Given the description of an element on the screen output the (x, y) to click on. 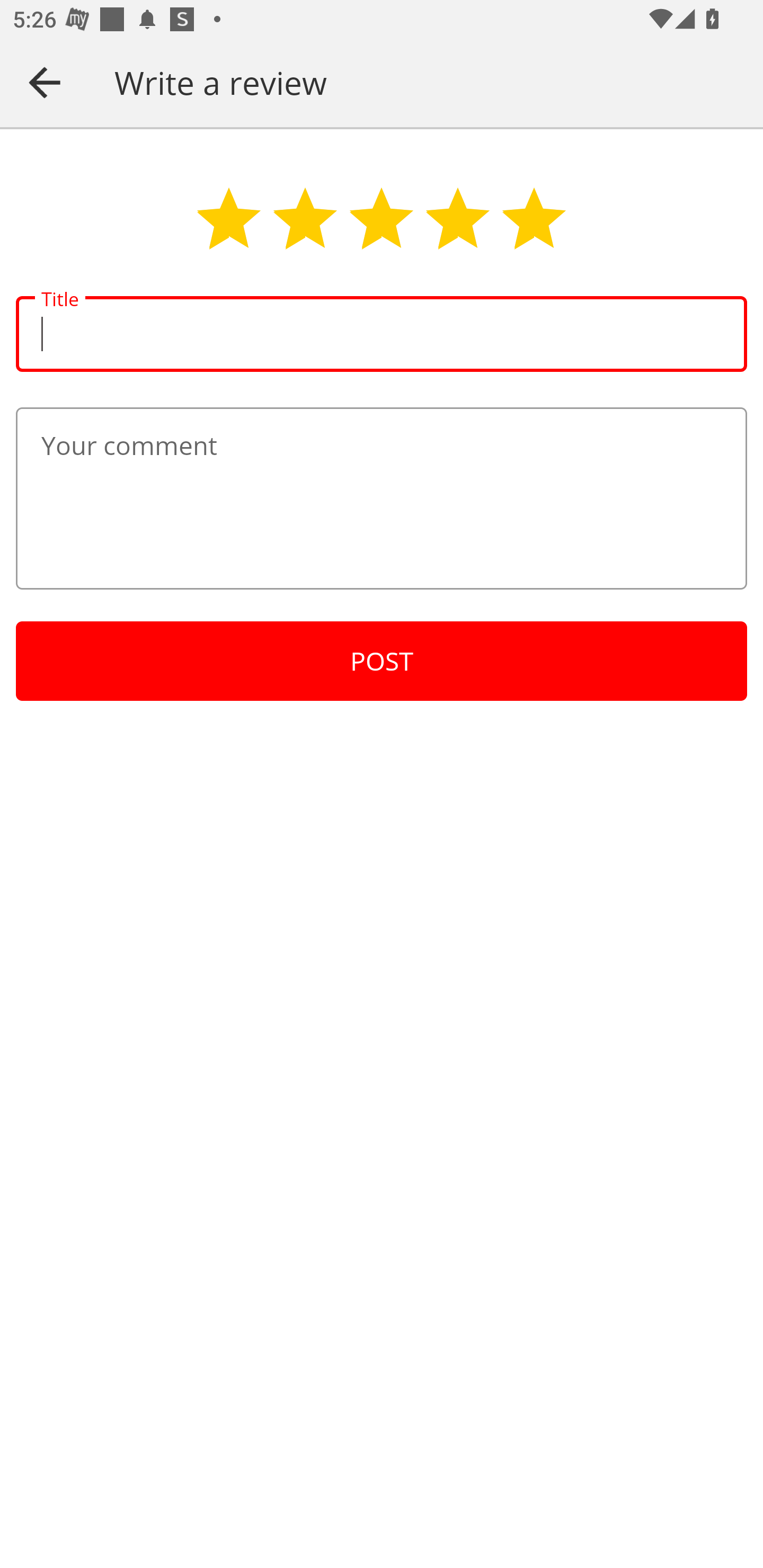
Navigate up (44, 82)
Title (381, 333)
Your comment (381, 498)
POST (381, 660)
